Given the description of an element on the screen output the (x, y) to click on. 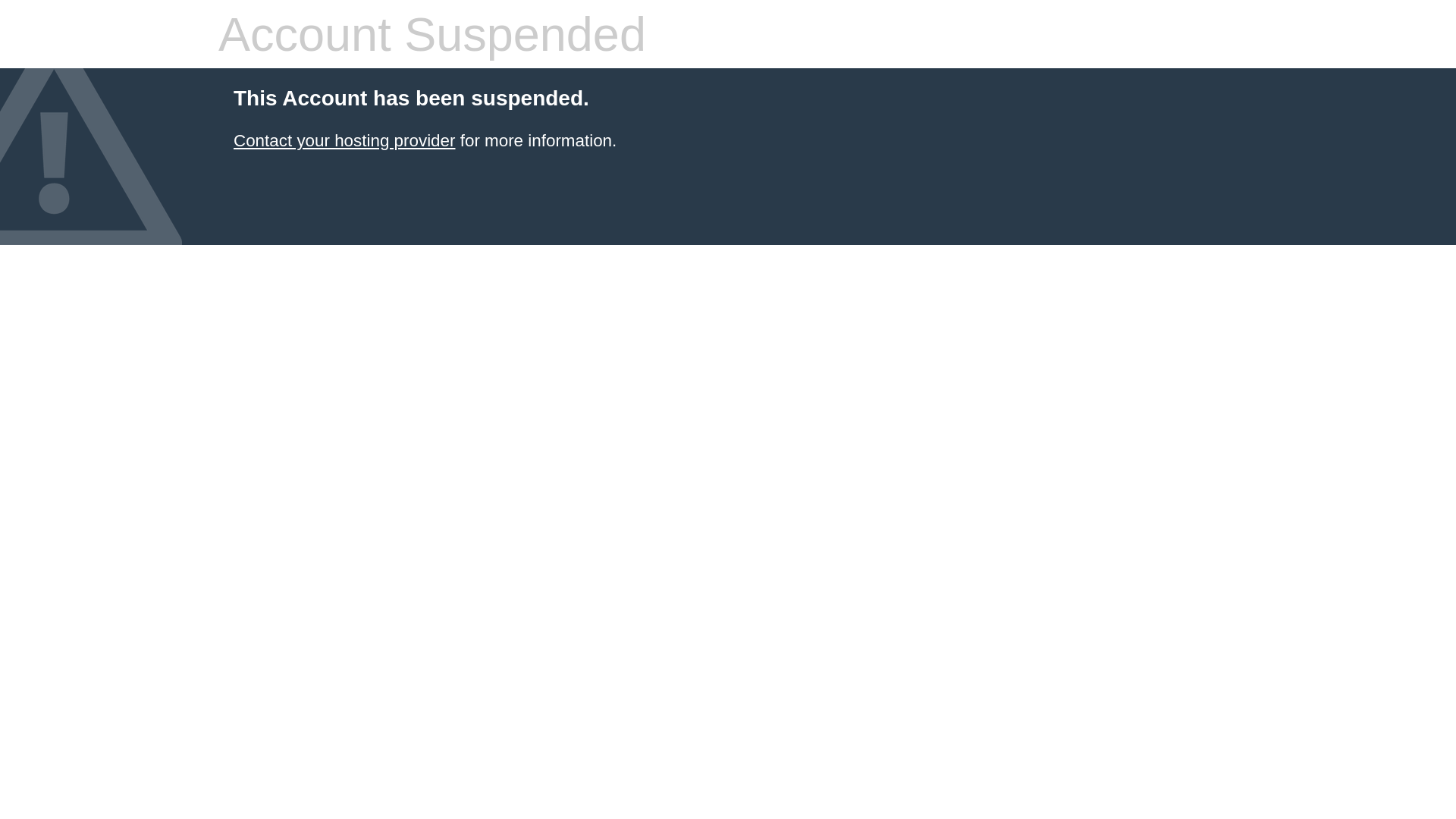
Contact your hosting provider Element type: text (344, 140)
